Given the description of an element on the screen output the (x, y) to click on. 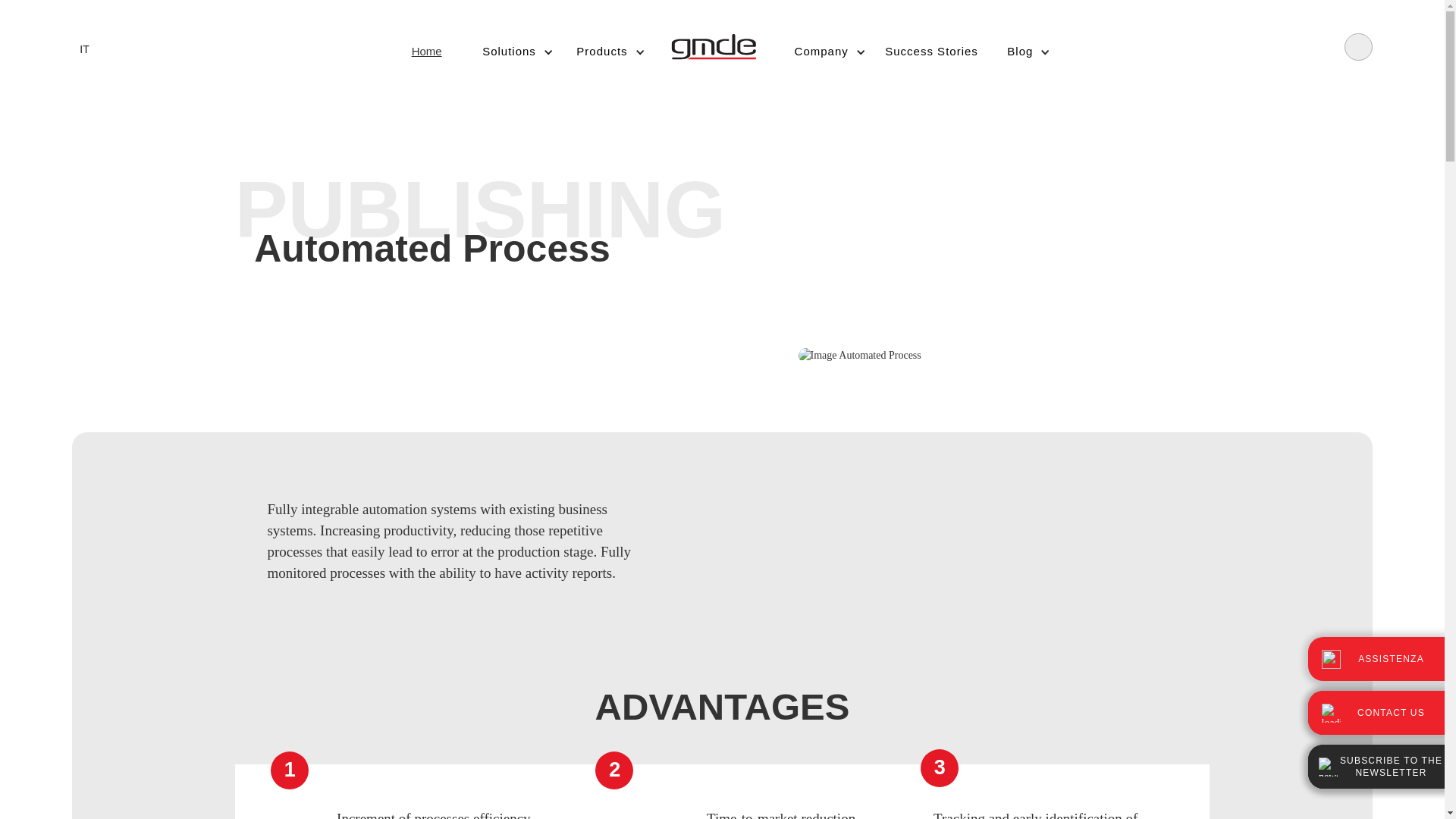
Home (426, 50)
